Given the description of an element on the screen output the (x, y) to click on. 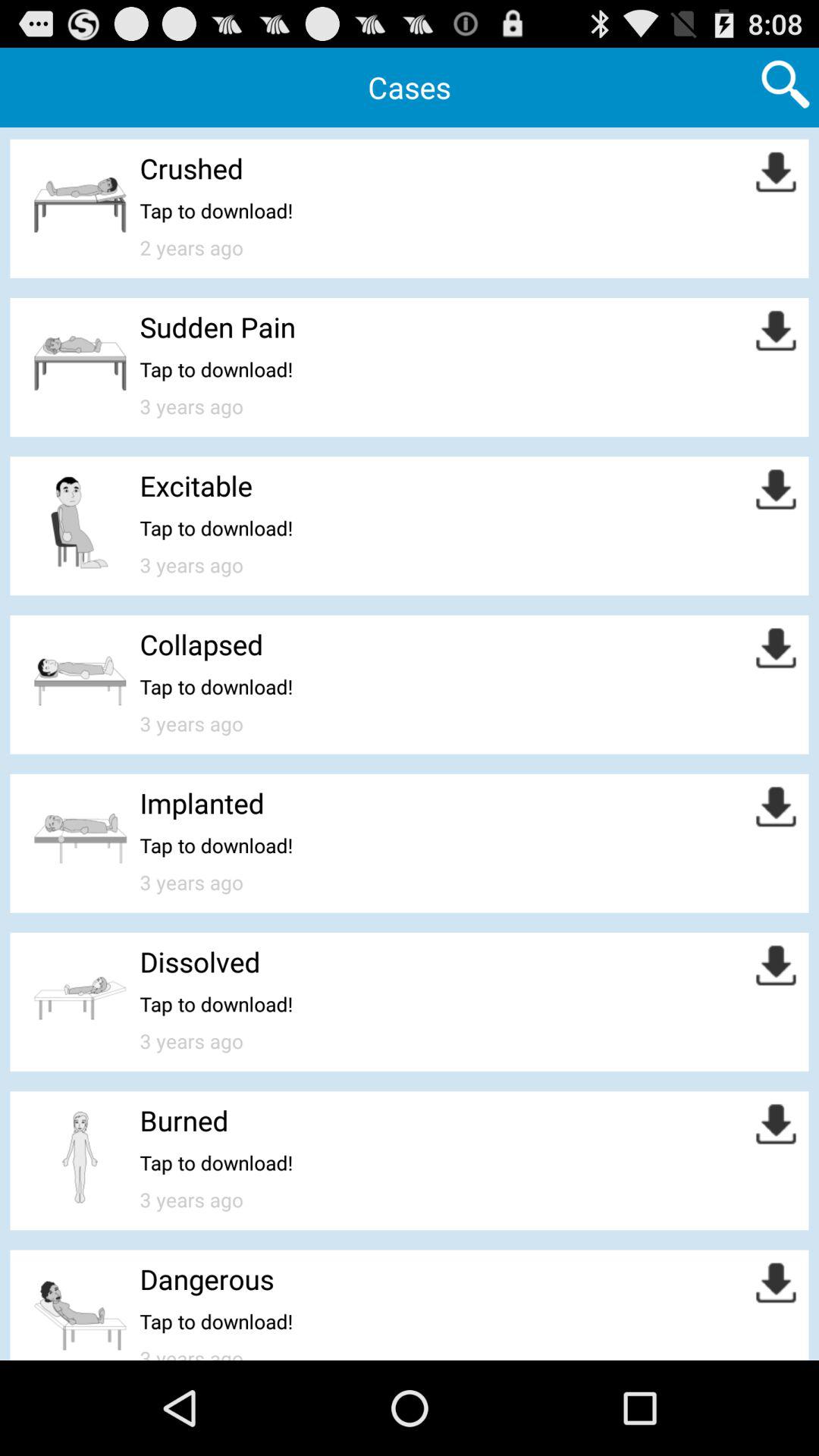
launch item above the tap to download! icon (217, 326)
